Given the description of an element on the screen output the (x, y) to click on. 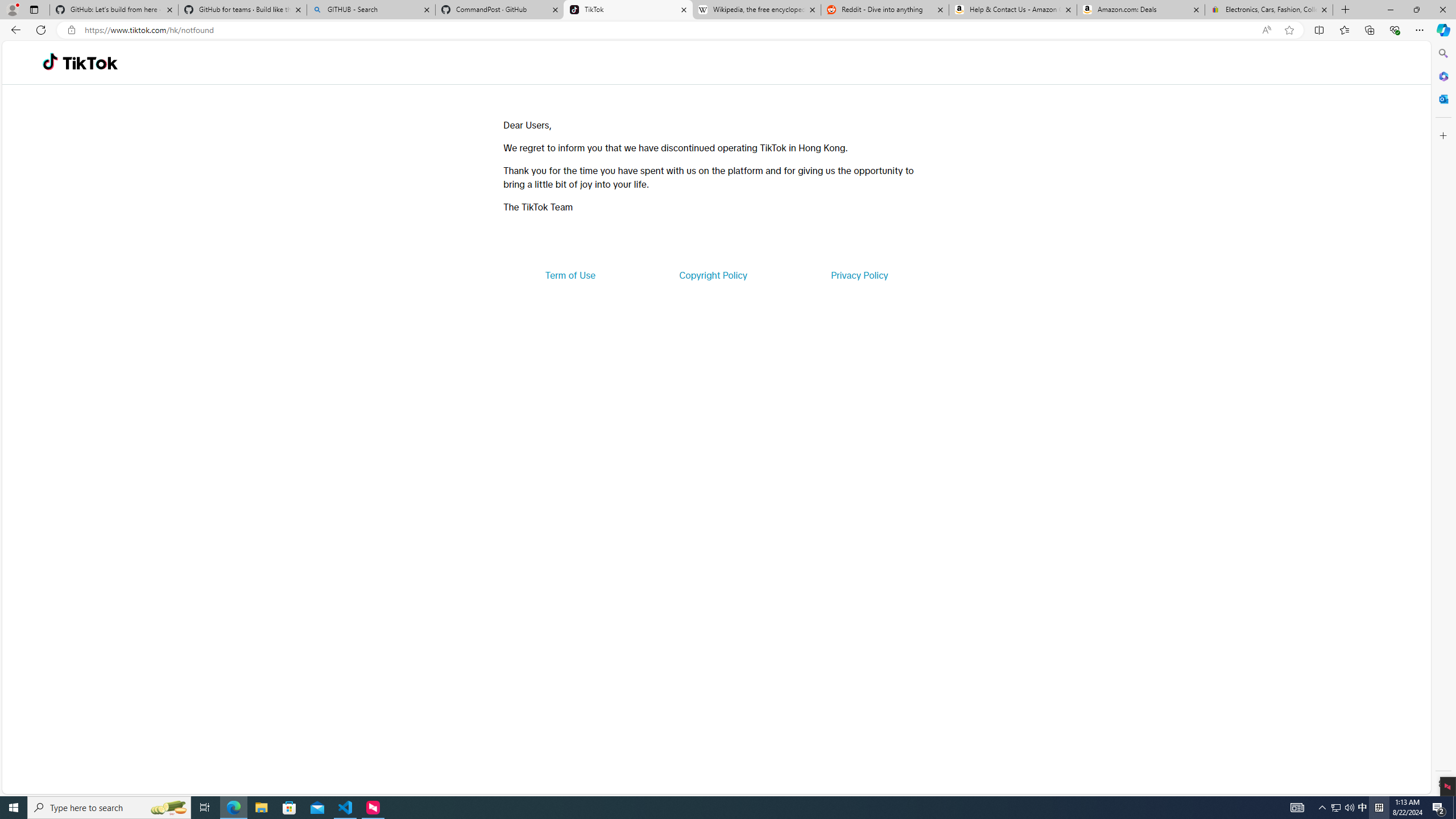
TikTok (628, 9)
GITHUB - Search (370, 9)
